Given the description of an element on the screen output the (x, y) to click on. 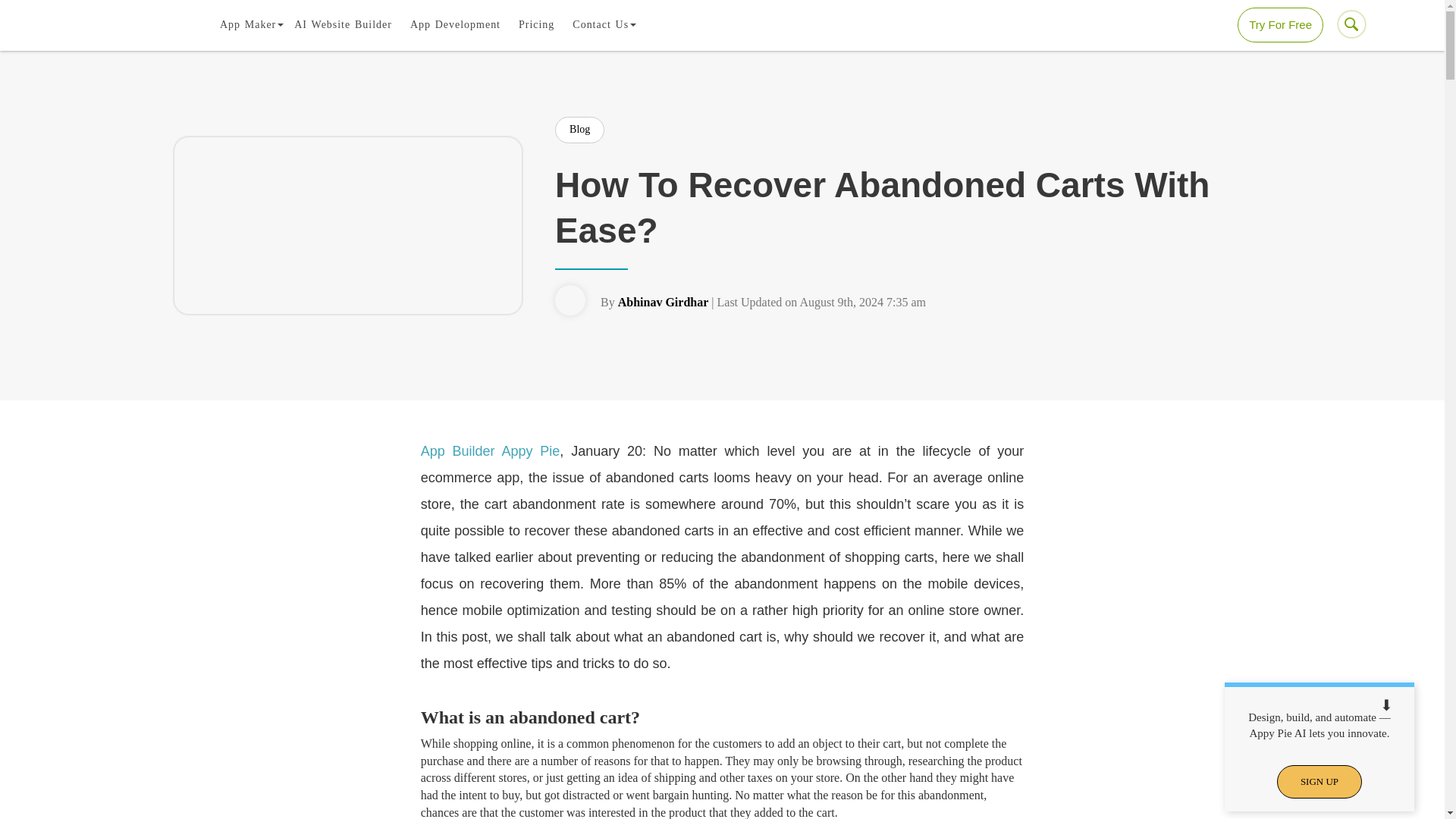
Contact Us (600, 24)
App Builder (248, 24)
App Builder Appy Pie (490, 450)
Contact Us (600, 24)
App Development (455, 24)
Pricing (536, 24)
Try For Free (1280, 24)
Go (13, 11)
Mobile App Development (455, 24)
SIGN UP (1318, 781)
